Given the description of an element on the screen output the (x, y) to click on. 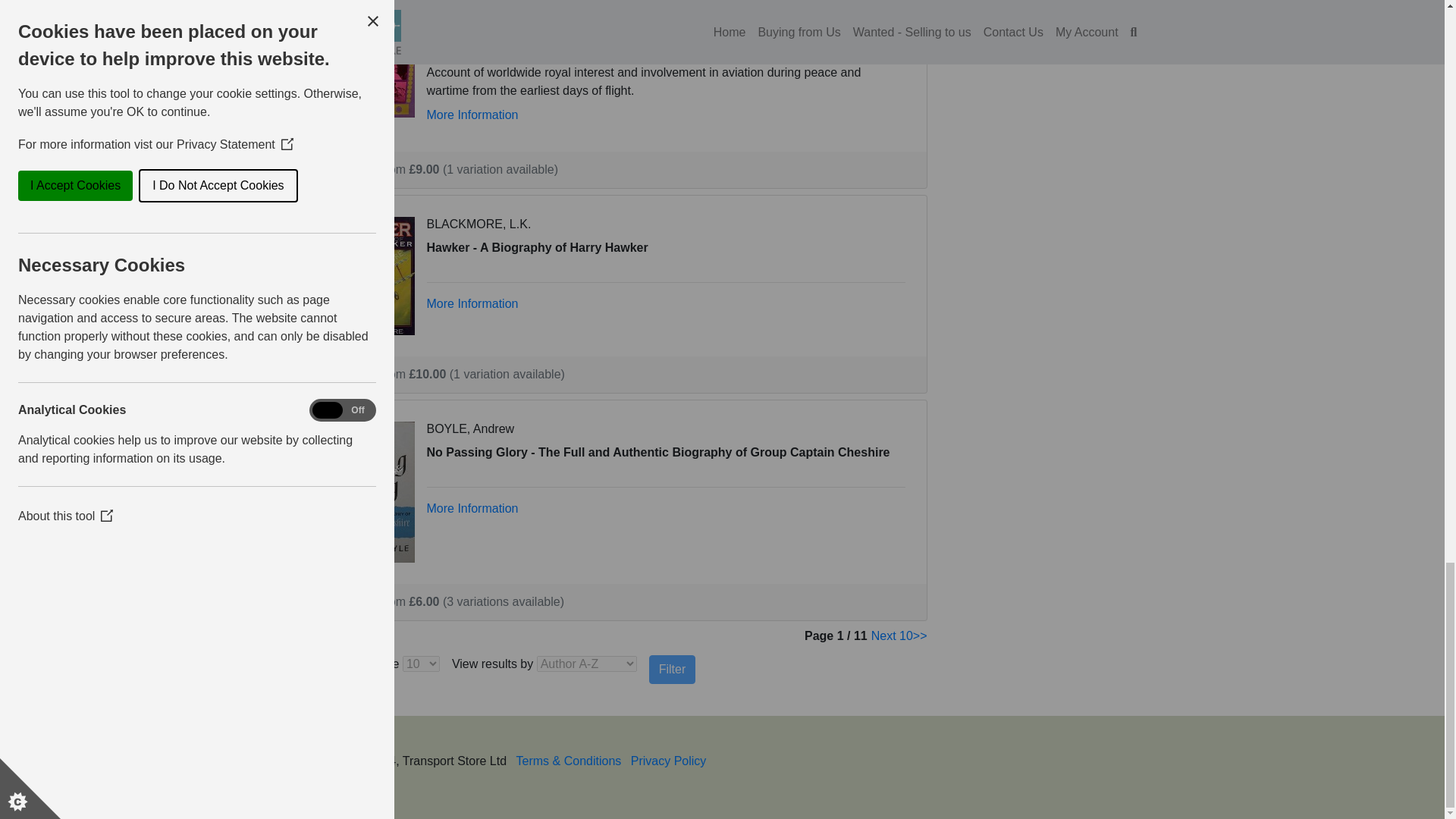
Hawker - A Biography of Harry Hawker by BLACKMORE, L.K.  (368, 274)
